Given the description of an element on the screen output the (x, y) to click on. 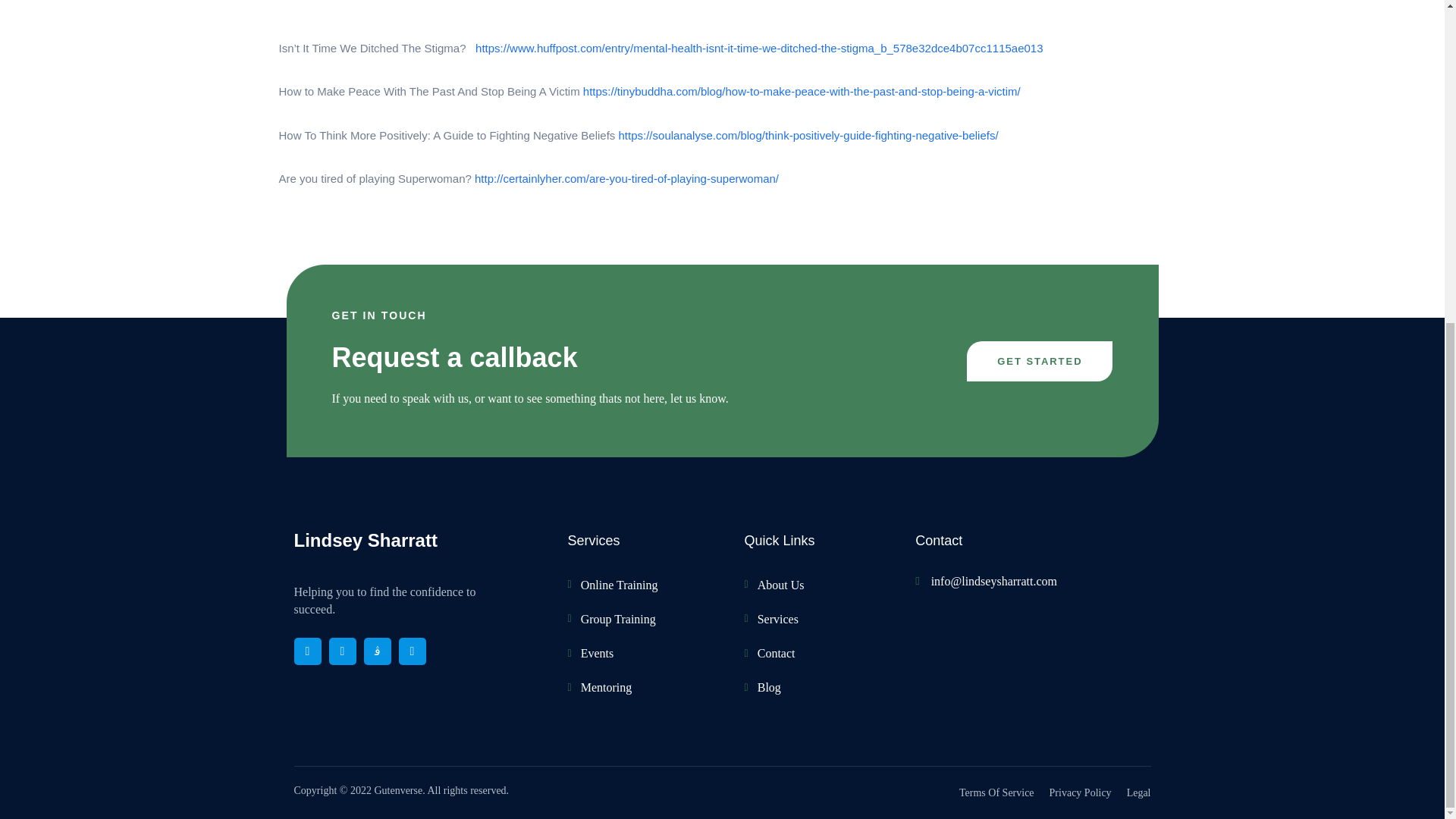
About Us (807, 584)
Mentoring (648, 687)
Services (807, 619)
Contact (807, 652)
GET STARTED (1039, 361)
Privacy Policy (1080, 792)
Group Training (648, 619)
Events (648, 652)
Online Training (648, 584)
Blog (807, 687)
Legal (1138, 792)
Terms Of Service (996, 792)
